Given the description of an element on the screen output the (x, y) to click on. 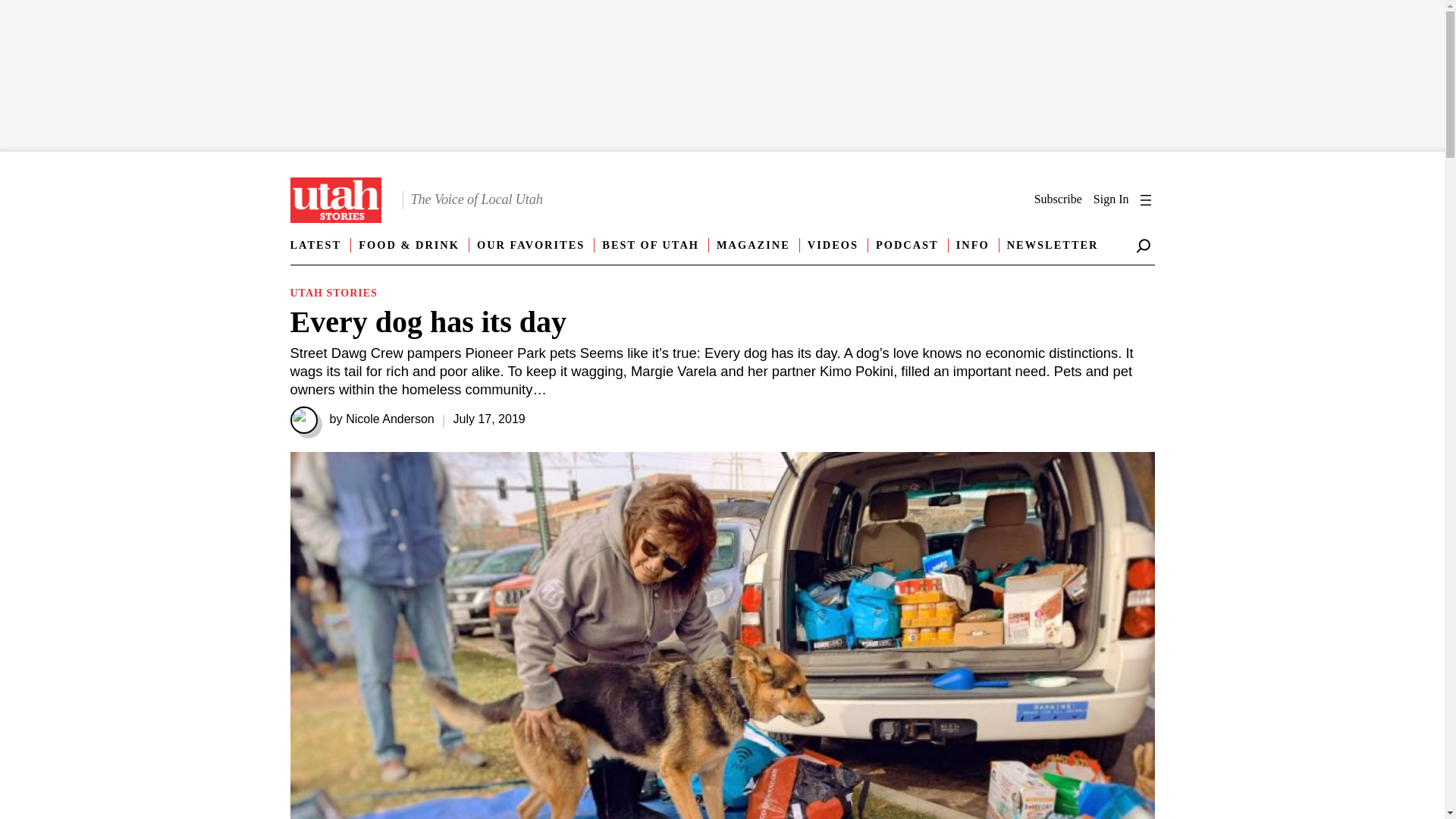
Sign In (1111, 199)
Subscribe (1057, 199)
